Given the description of an element on the screen output the (x, y) to click on. 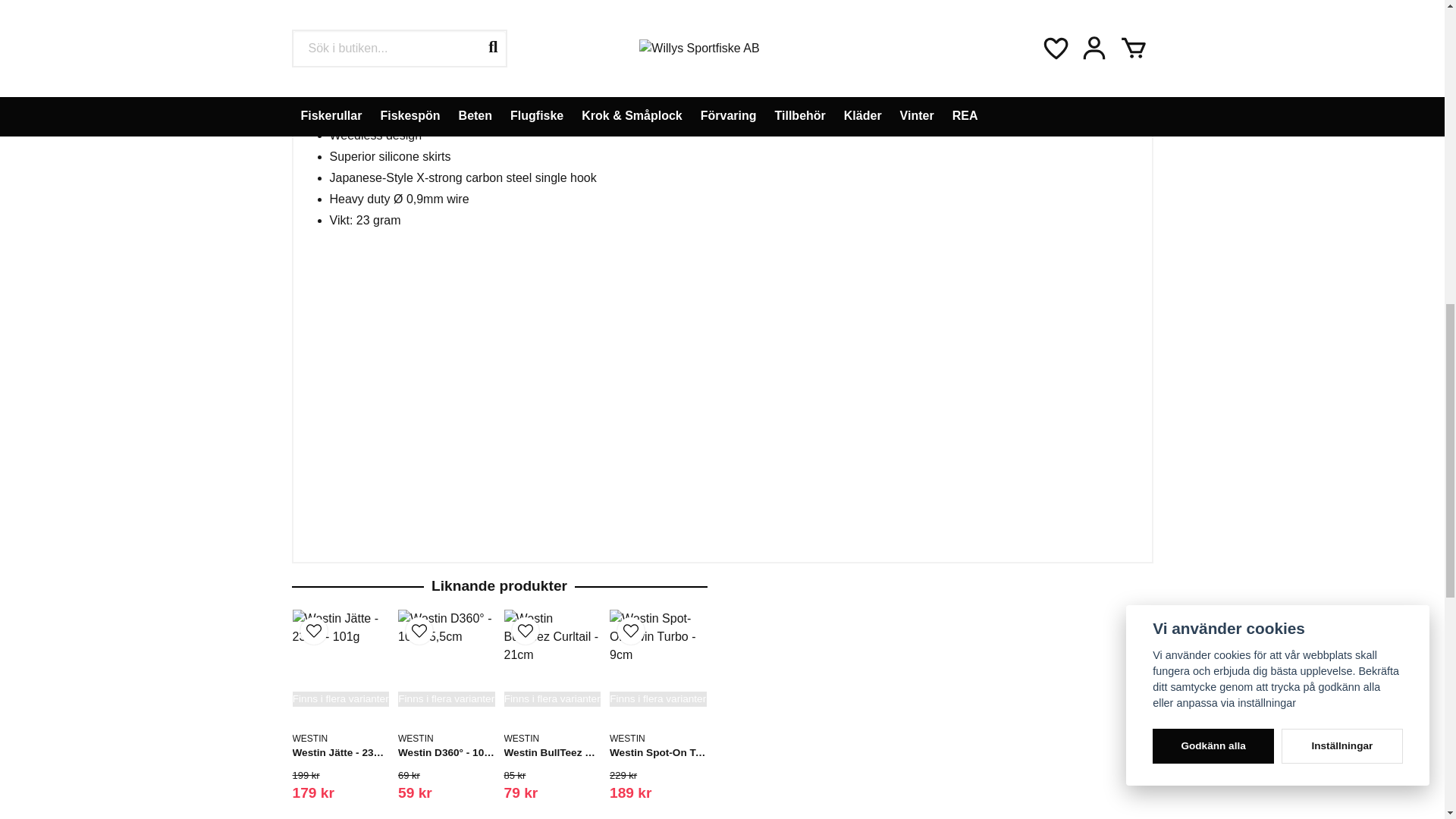
Westin BullTeez Curltail - 21cm (551, 657)
frontend.favorites.add (313, 630)
frontend.favorites.add (524, 630)
frontend.favorites.add (419, 630)
